Given the description of an element on the screen output the (x, y) to click on. 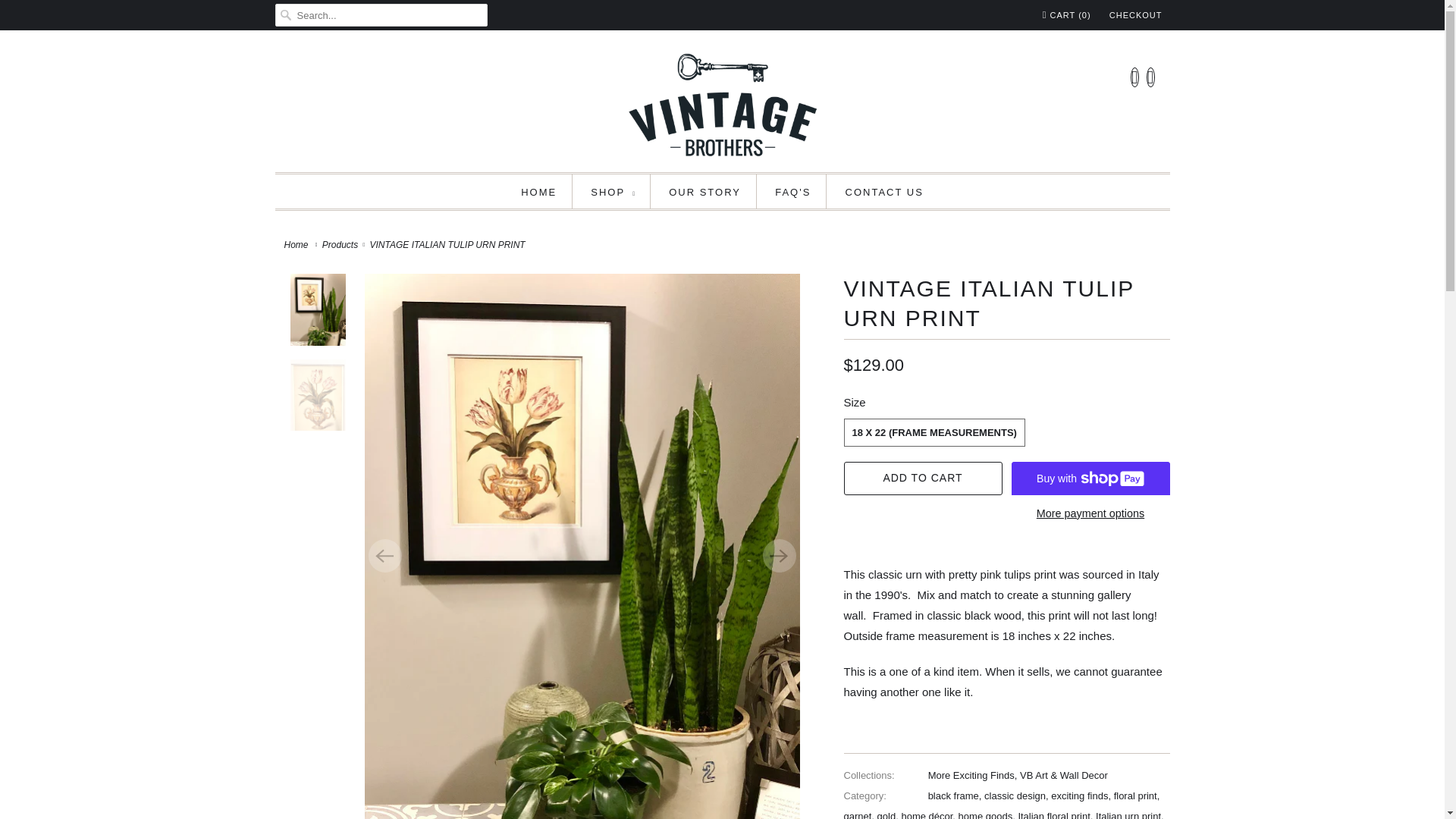
Products tagged Italian floral print (1053, 814)
CHECKOUT (1135, 15)
Vintage Brothers Ltd. (721, 105)
Browse More Exciting Finds (971, 775)
HOME (538, 191)
Products tagged floral print (1135, 795)
Products tagged black frame (953, 795)
Products tagged classic design (1014, 795)
Products tagged gold (886, 814)
Products tagged exciting finds (1079, 795)
Products tagged garnet (856, 814)
Vintage Brothers Ltd. (296, 244)
Products (339, 244)
Products tagged Italian urn print (1128, 814)
Products tagged home goods (985, 814)
